Given the description of an element on the screen output the (x, y) to click on. 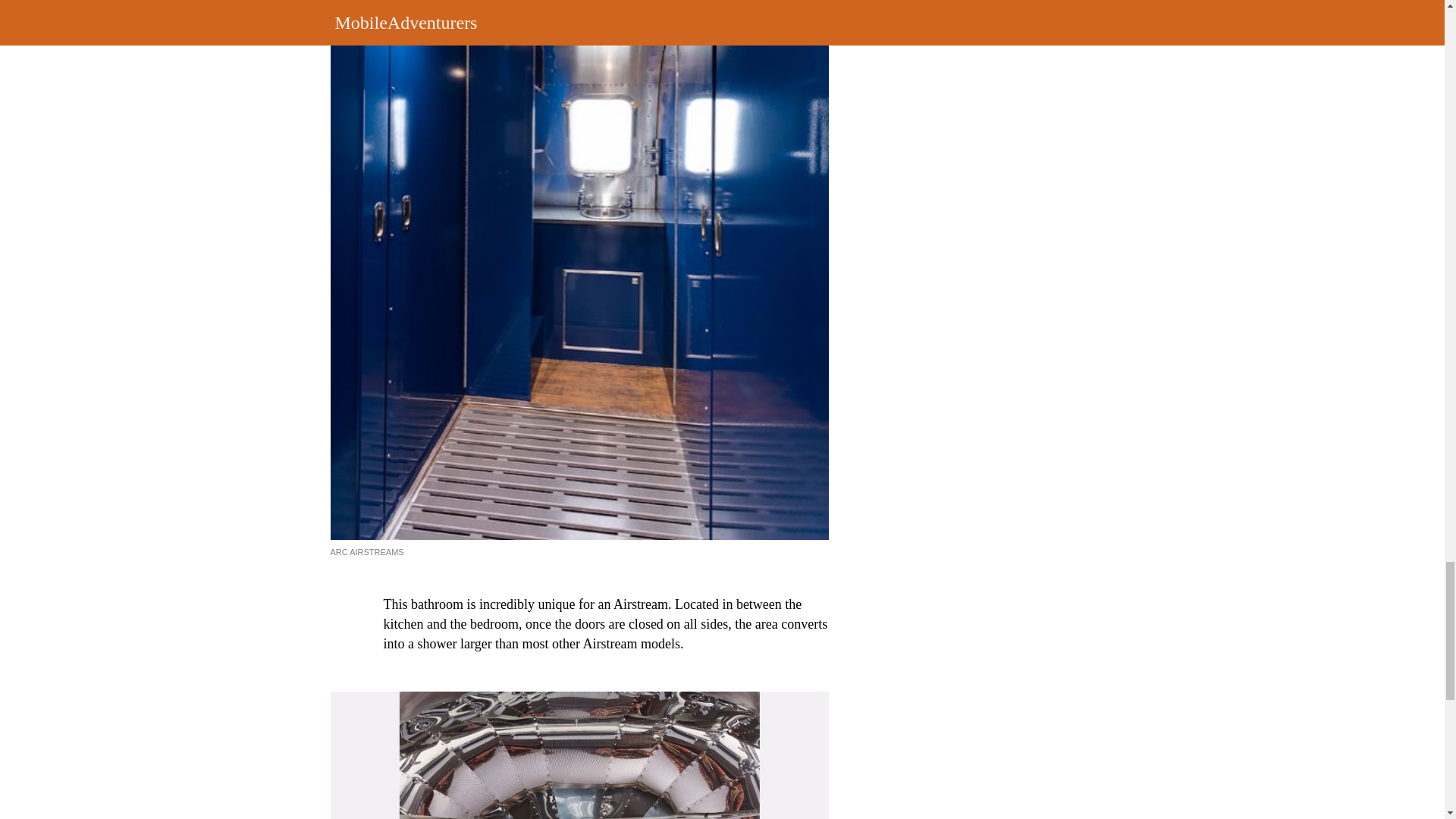
ARC AIRSTREAMS (367, 551)
